Given the description of an element on the screen output the (x, y) to click on. 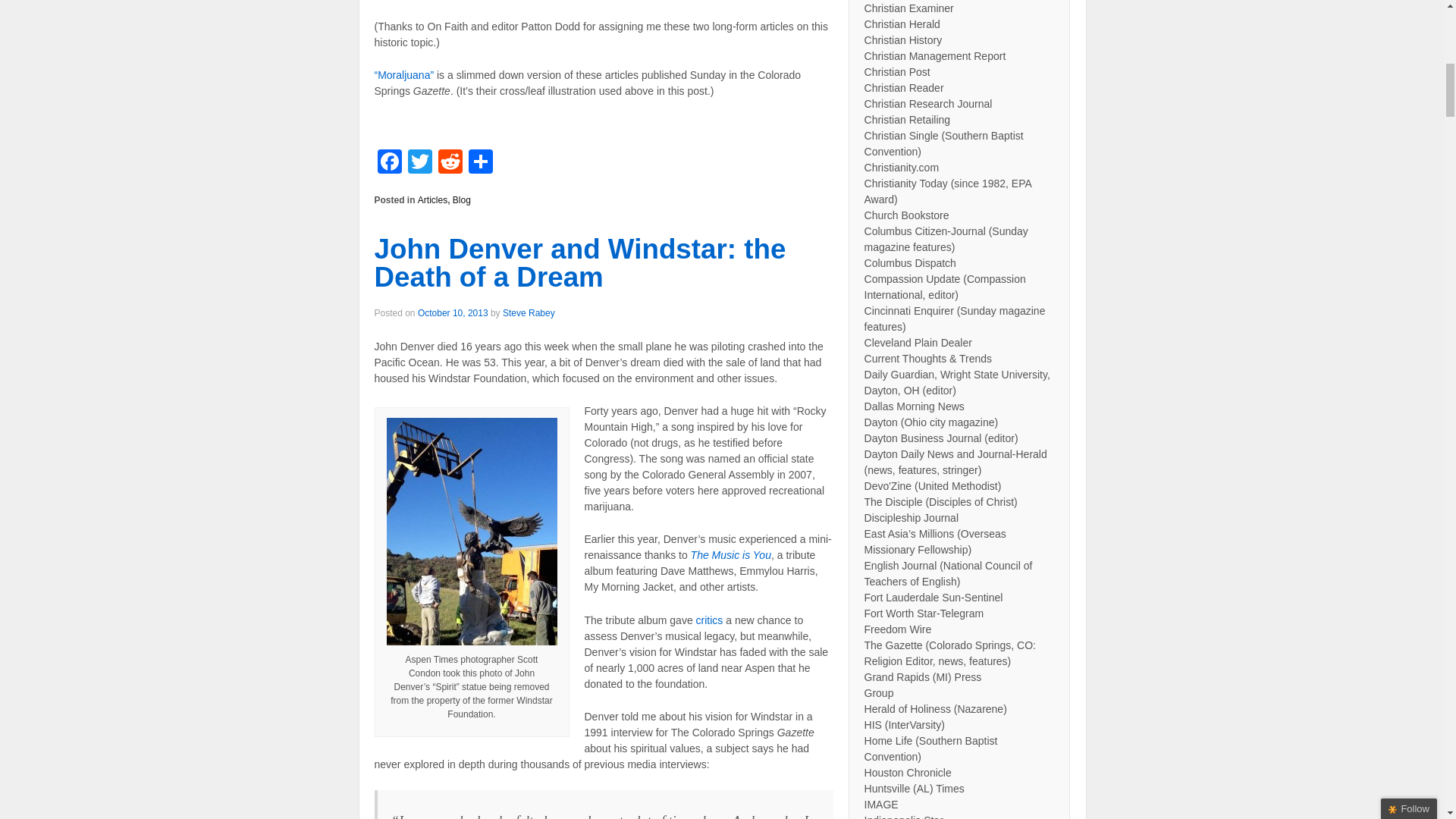
Facebook (389, 163)
Articles (431, 199)
Reddit (450, 163)
Sign me up! (1349, 145)
Facebook (389, 163)
Twitter (419, 163)
Share (480, 163)
Twitter (419, 163)
10:51 am (452, 312)
View all posts by Steve Rabey (528, 312)
Reddit (450, 163)
Enter email address (1346, 116)
